Given the description of an element on the screen output the (x, y) to click on. 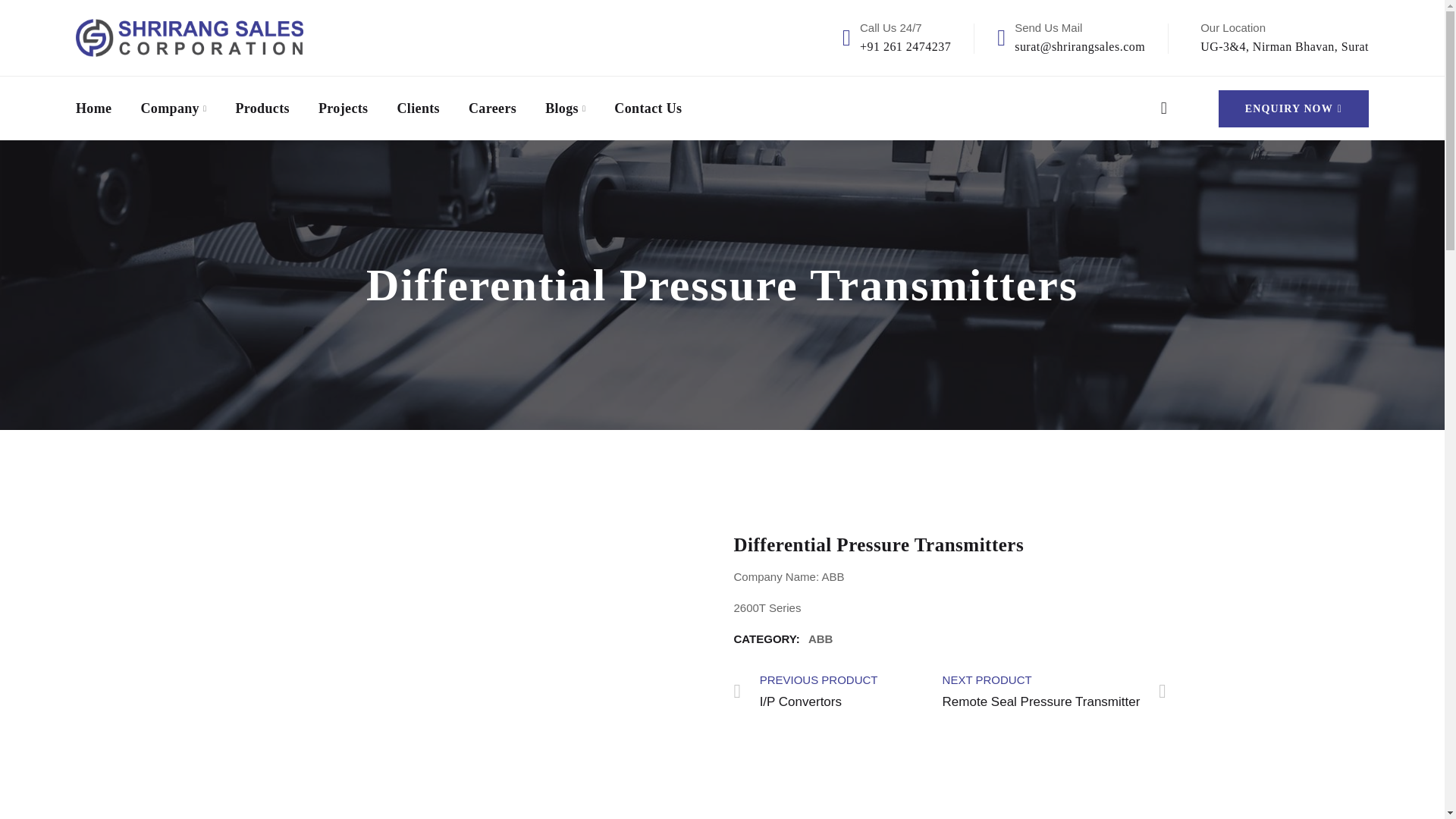
Remote Seal Pressure Transmitter (1054, 690)
Contact Us (1054, 690)
ENQUIRY NOW (647, 108)
Shrirang Sales Corporation (1293, 107)
ABB (188, 36)
Company (820, 638)
